Given the description of an element on the screen output the (x, y) to click on. 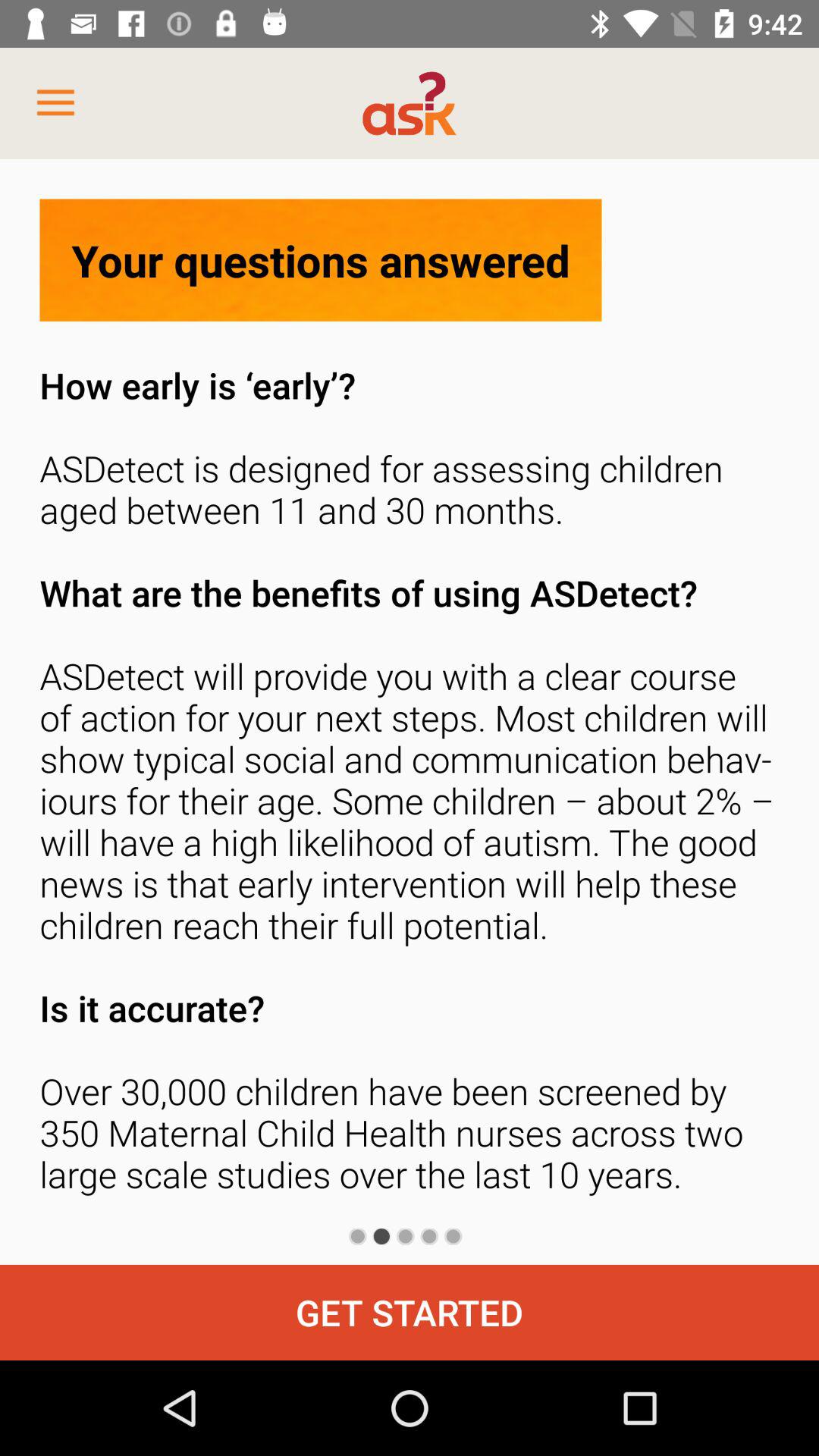
turn off how early is icon (409, 784)
